Given the description of an element on the screen output the (x, y) to click on. 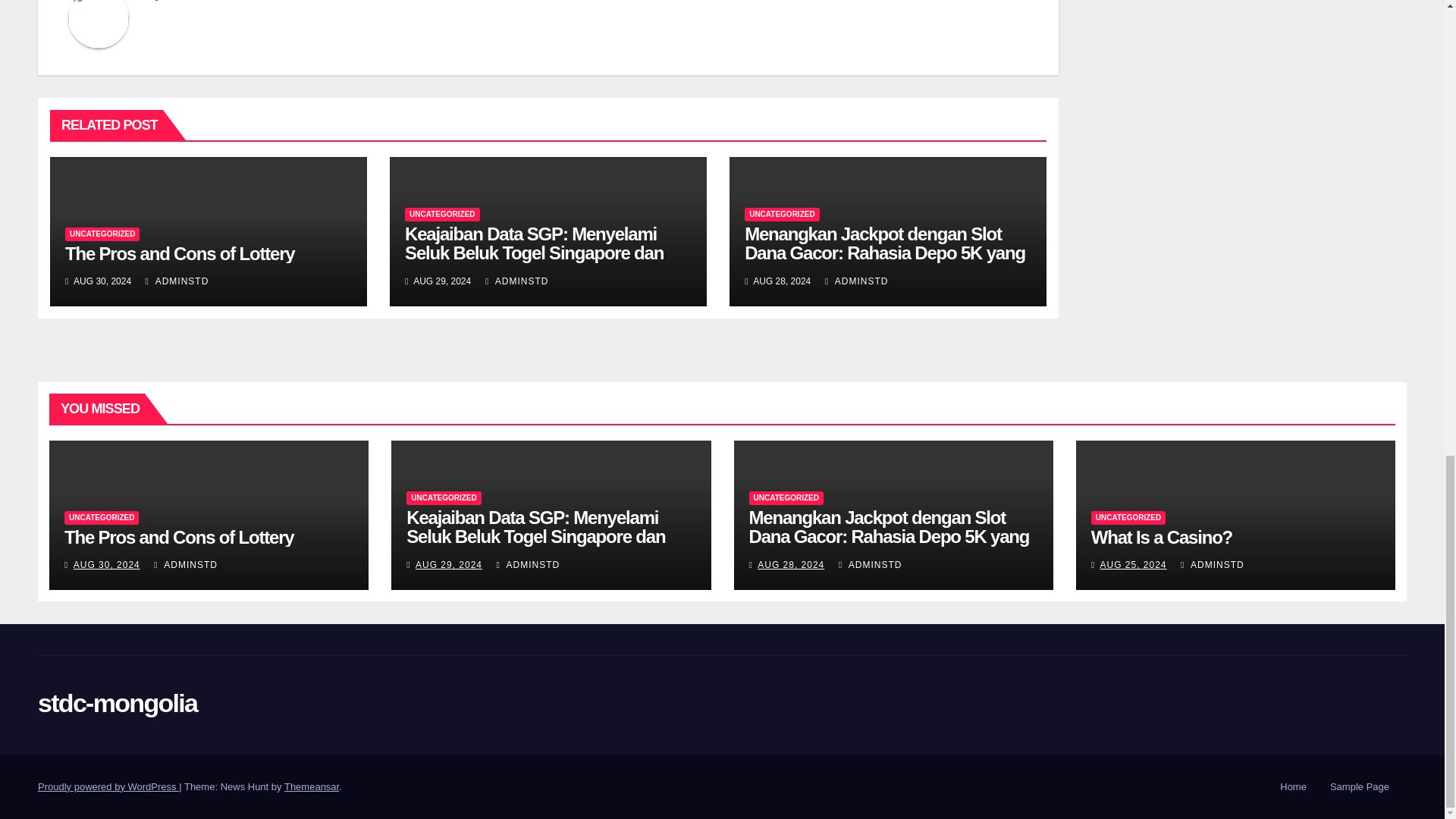
Permalink to: The Pros and Cons of Lottery (179, 253)
Permalink to: What Is a Casino? (1160, 537)
adminstd (184, 0)
ADMINSTD (177, 281)
UNCATEGORIZED (102, 233)
UNCATEGORIZED (441, 214)
